Given the description of an element on the screen output the (x, y) to click on. 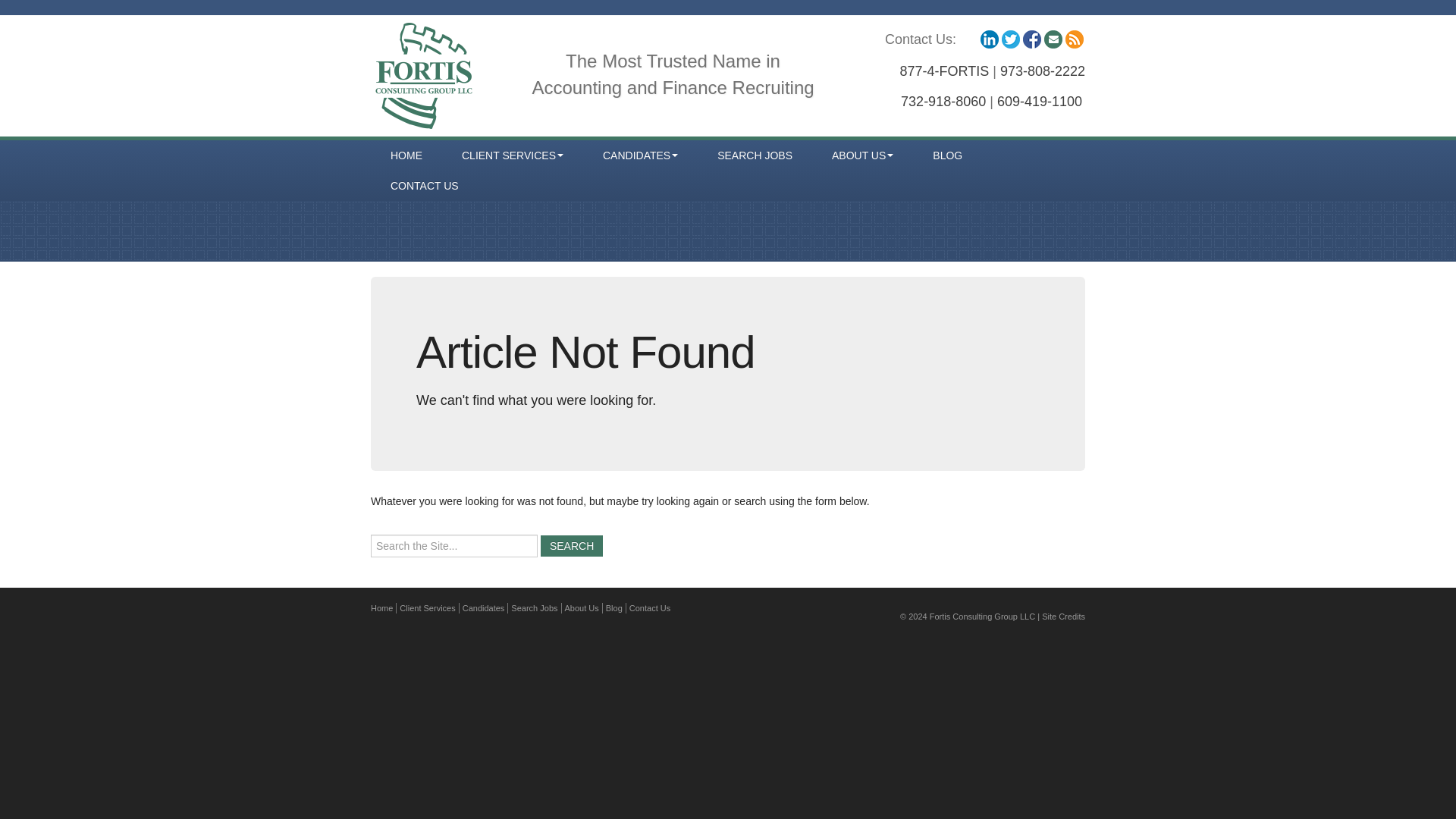
CANDIDATES (640, 155)
Contact Us (649, 607)
Our Blog RSS Feed (1074, 39)
Blog (614, 607)
Search (571, 545)
ABOUT US (862, 155)
Search (571, 545)
Like us on Facebook (1032, 39)
Follow us on Twitter (1010, 39)
Connect with us on LinkedIn (988, 39)
Home (383, 607)
Our Blog (1052, 39)
About Us (582, 607)
Search Jobs (534, 607)
BLOG (946, 155)
